Given the description of an element on the screen output the (x, y) to click on. 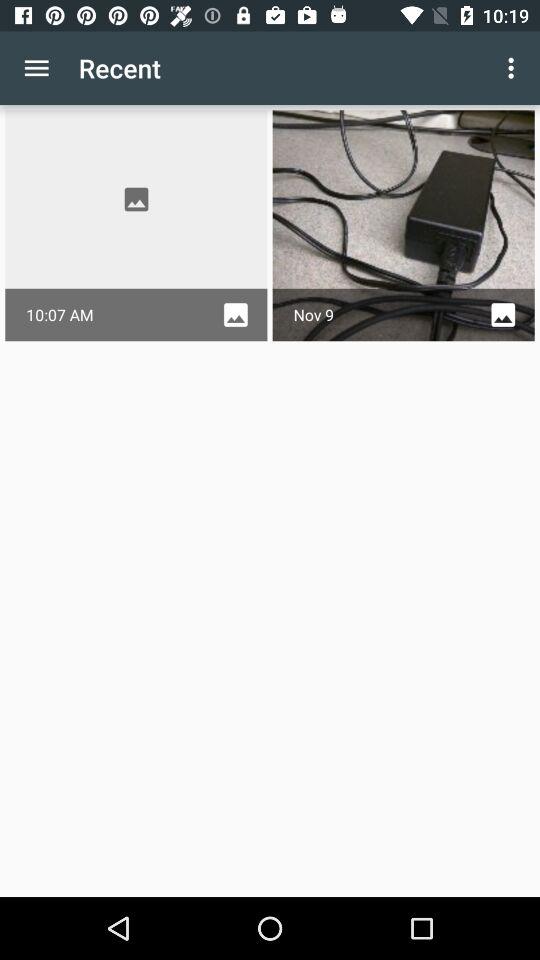
choose icon next to the recent icon (513, 67)
